Given the description of an element on the screen output the (x, y) to click on. 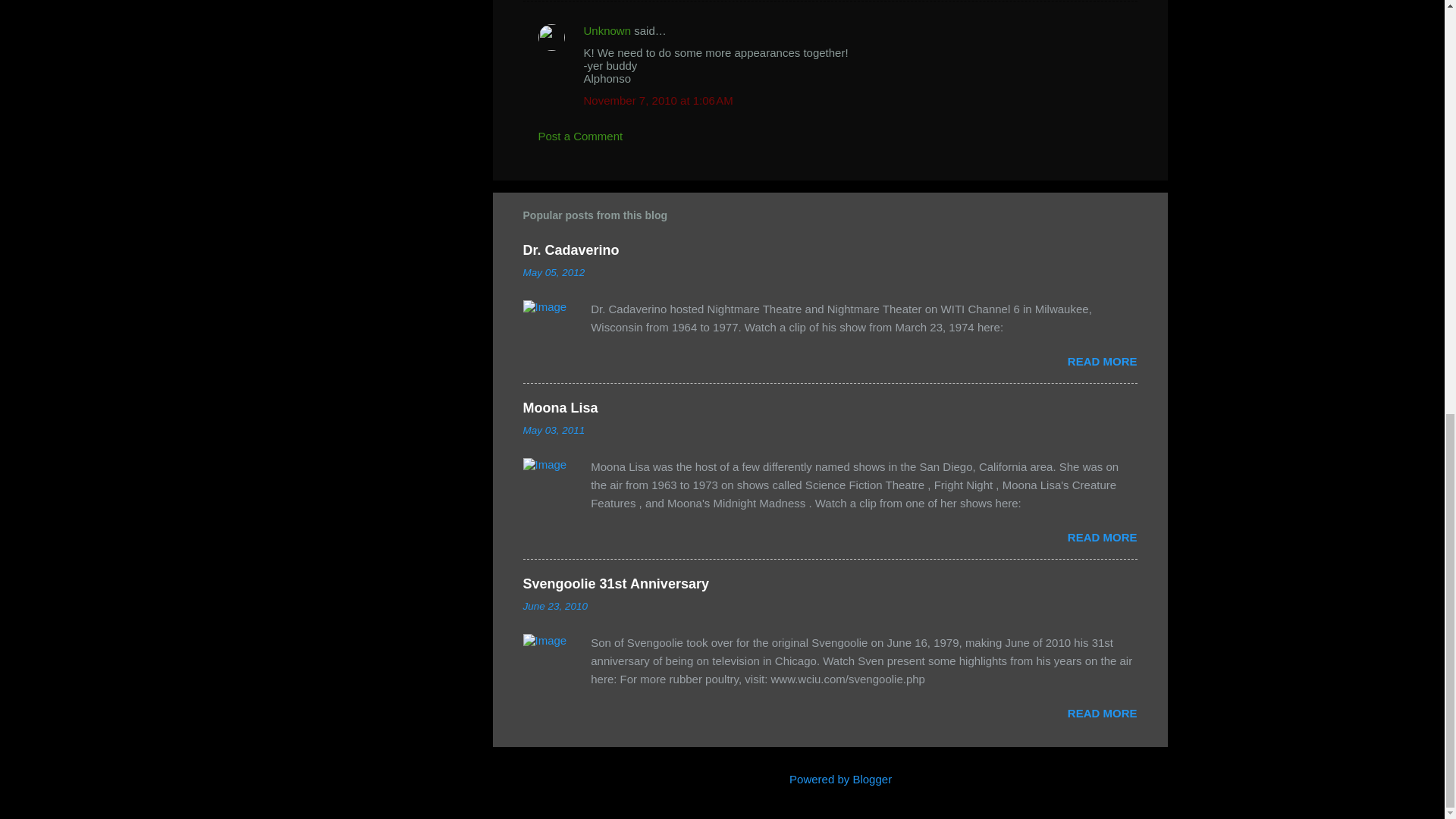
June 23, 2010 (555, 605)
Svengoolie 31st Anniversary (615, 583)
Powered by Blogger (829, 779)
READ MORE (1102, 536)
May 05, 2012 (553, 272)
Post a Comment (580, 135)
Unknown (607, 30)
READ MORE (1102, 360)
READ MORE (1102, 712)
Moona Lisa (560, 407)
Dr. Cadaverino (571, 249)
comment permalink (658, 100)
May 03, 2011 (553, 430)
